Given the description of an element on the screen output the (x, y) to click on. 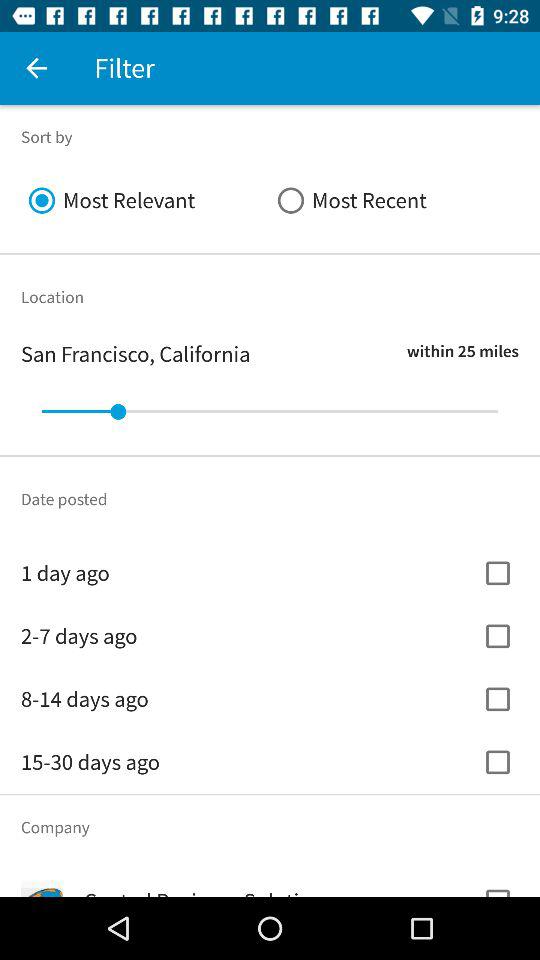
press icon below sort by icon (394, 200)
